Given the description of an element on the screen output the (x, y) to click on. 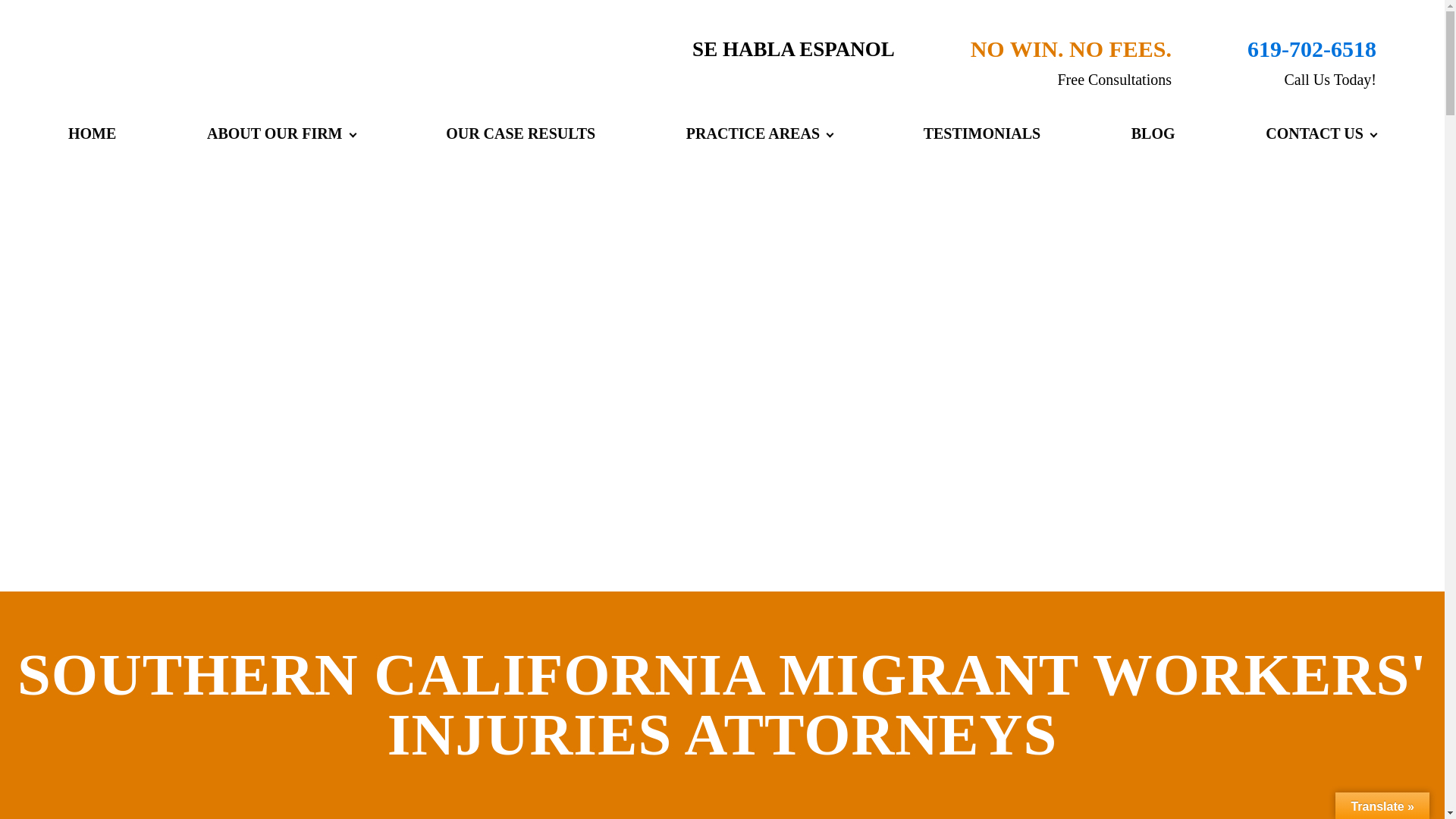
PRACTICE AREAS (759, 133)
HOME (99, 133)
619-702-6518 (1311, 49)
OUR CASE RESULTS (520, 133)
ABOUT OUR FIRM (281, 133)
